Given the description of an element on the screen output the (x, y) to click on. 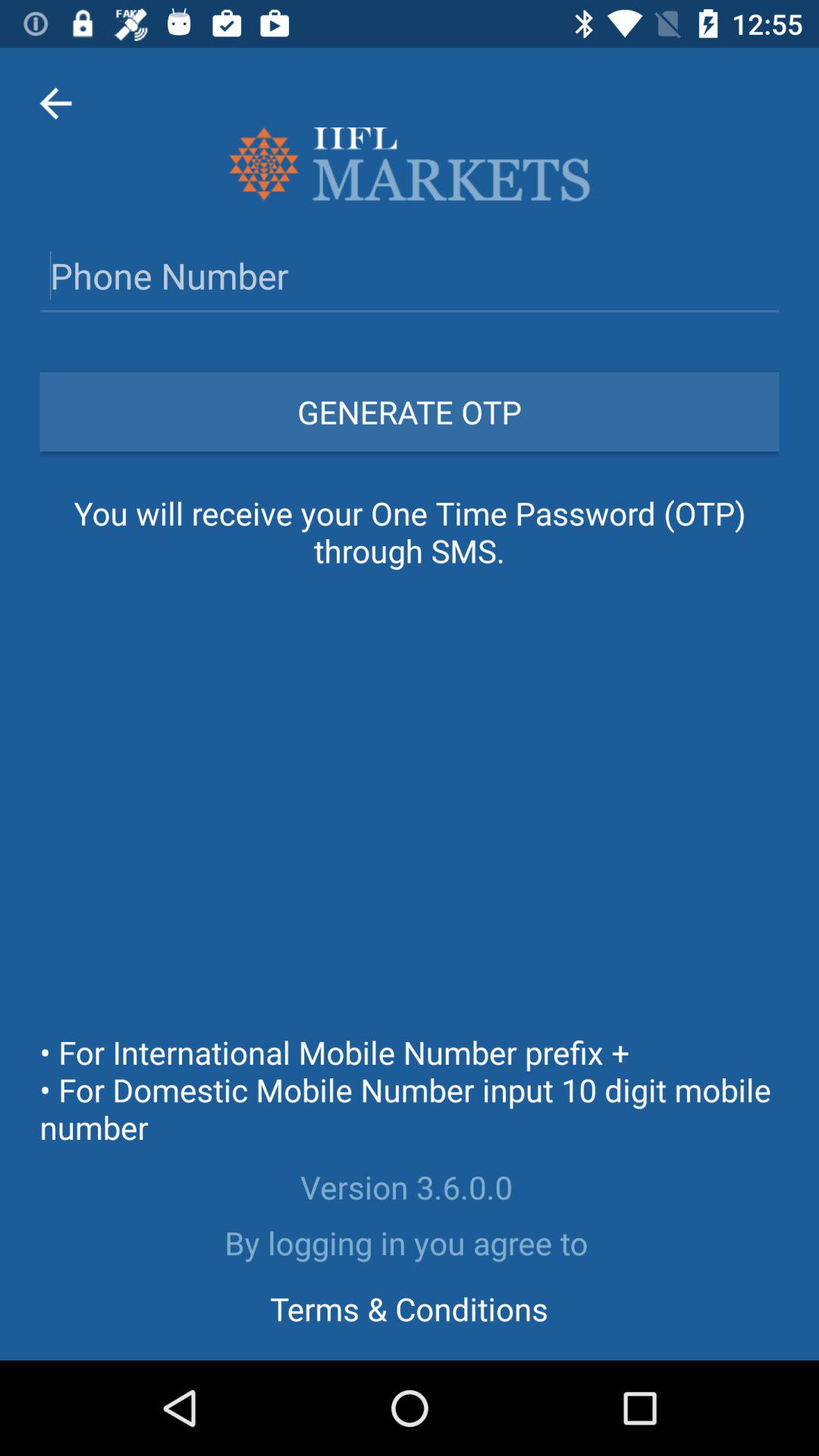
press by logging in icon (409, 1242)
